Given the description of an element on the screen output the (x, y) to click on. 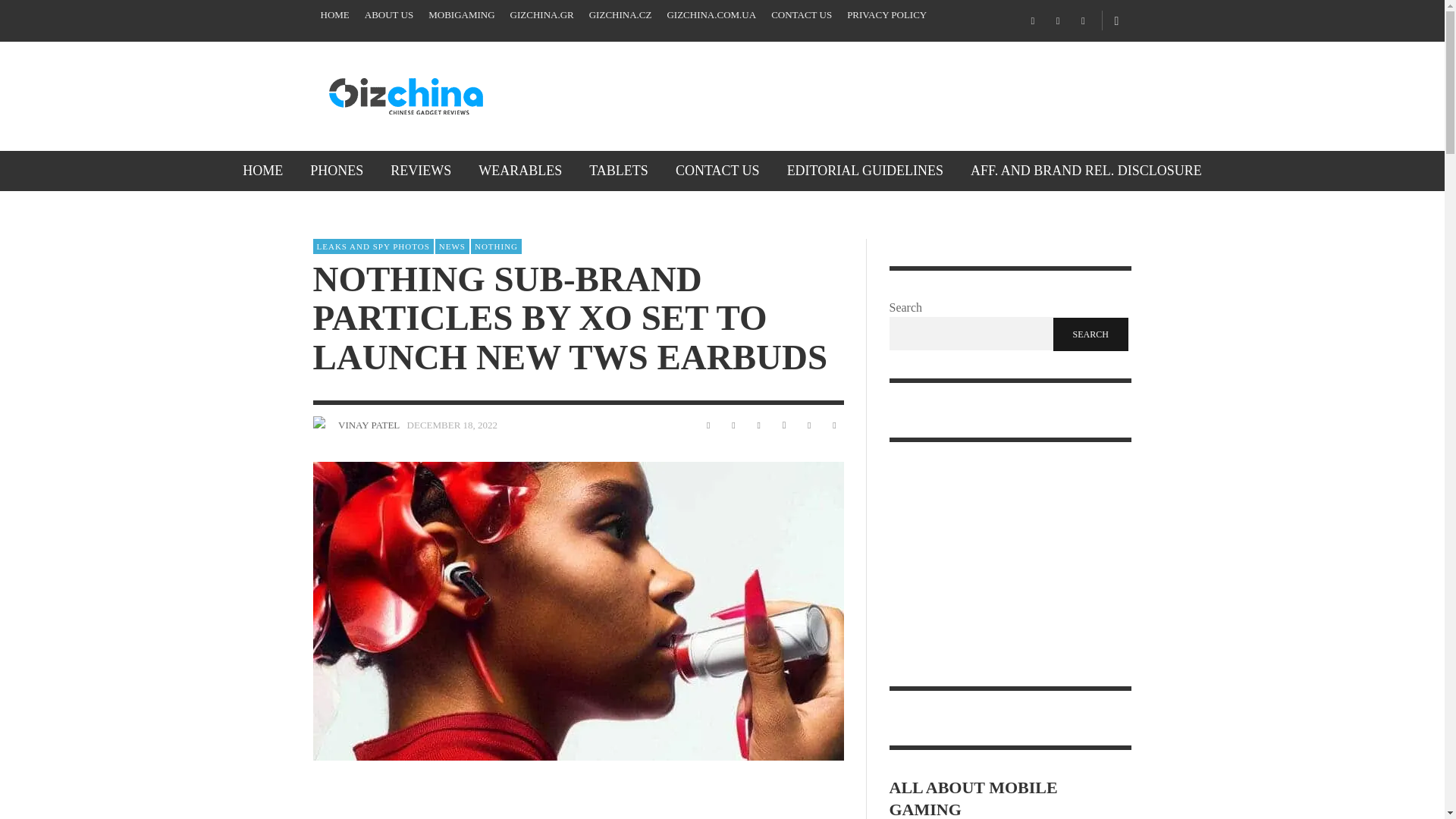
ABOUT US (388, 15)
GIZCHINA.CZ (619, 15)
GIZCHINA.COM.UA (710, 15)
MOBIGAMING (461, 15)
GIZCHINA.GR (541, 15)
HOME (334, 15)
HOME (262, 170)
PHONES (337, 170)
REVIEWS (420, 170)
PRIVACY POLICY (887, 15)
